Given the description of an element on the screen output the (x, y) to click on. 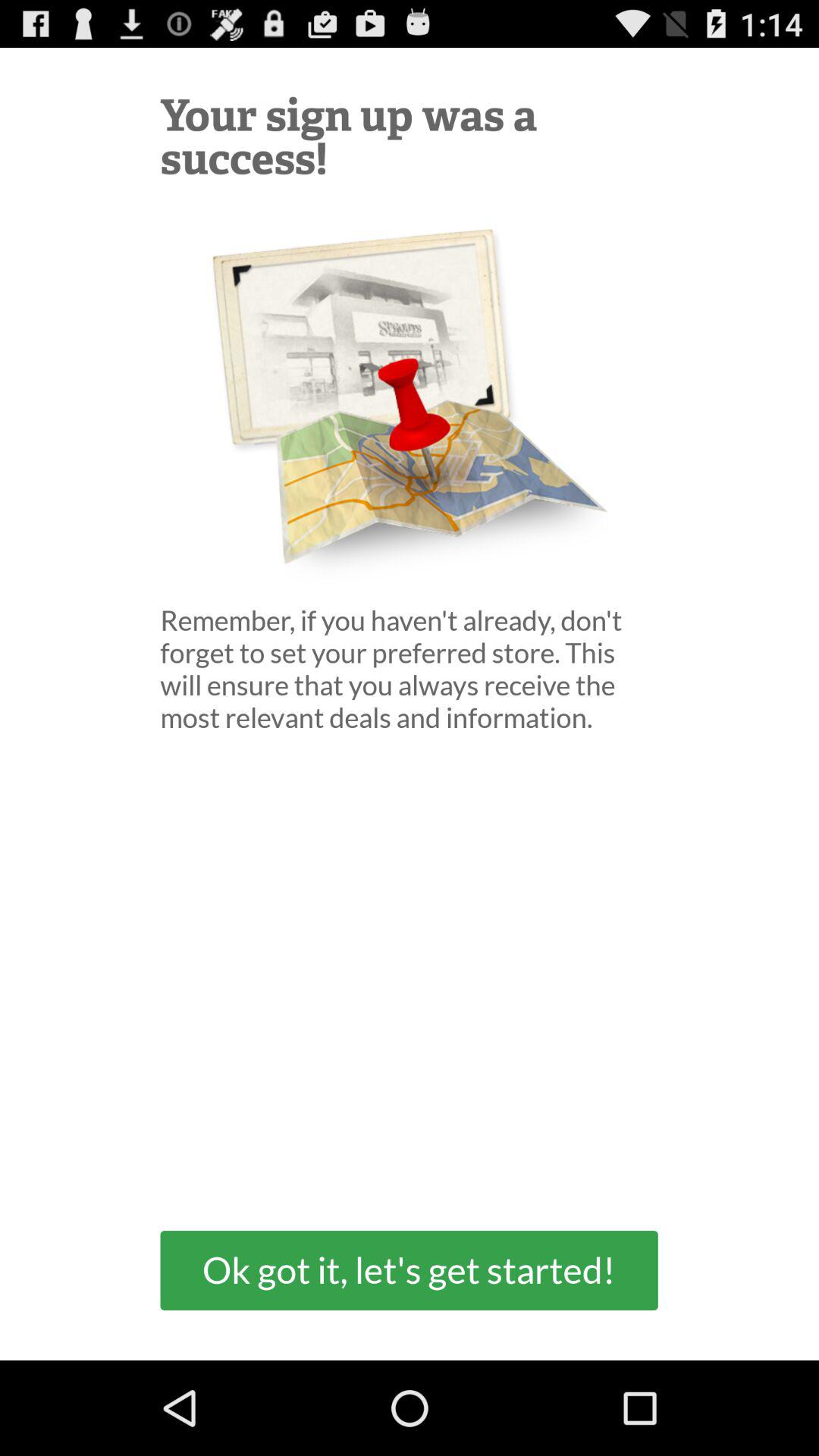
turn on ok got it (409, 1270)
